Given the description of an element on the screen output the (x, y) to click on. 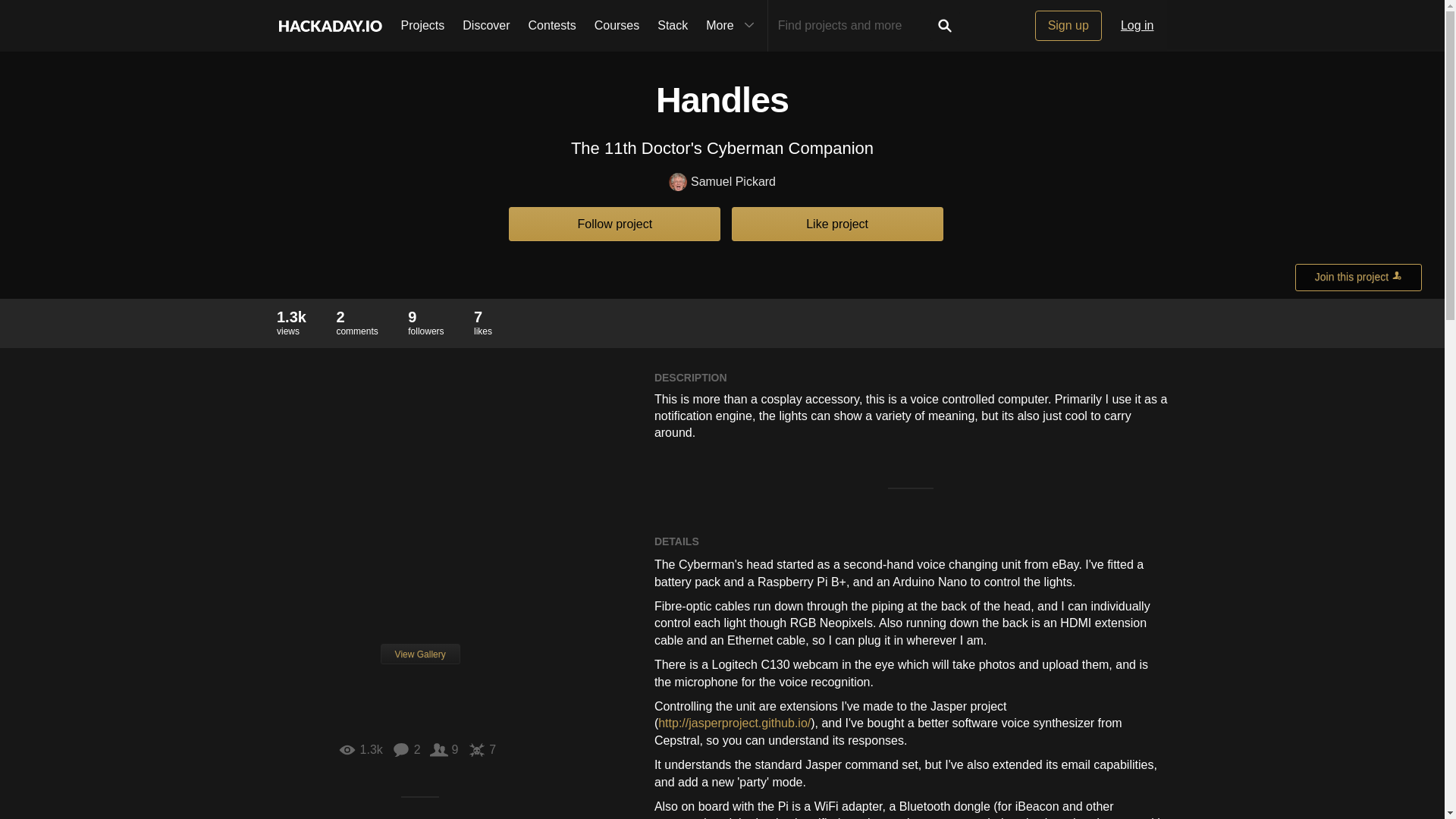
Two characters minimum (853, 25)
Description (686, 32)
Discussion 2 (1099, 31)
Discover (485, 25)
More (732, 25)
Join this project (1358, 277)
Log in (1137, 25)
Search (944, 25)
Likes (481, 749)
Description (686, 32)
